Given the description of an element on the screen output the (x, y) to click on. 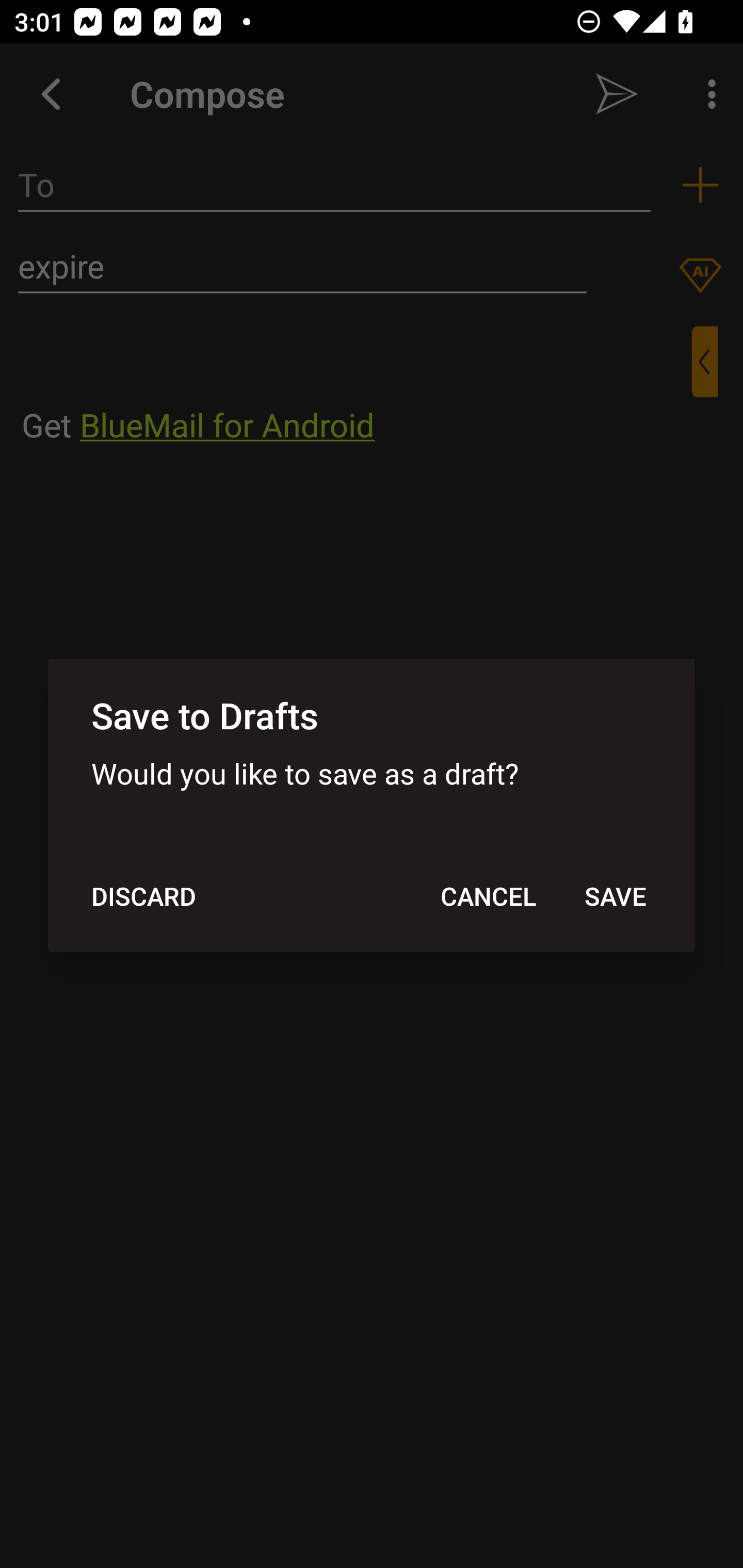
DISCARD (143, 895)
CANCEL (488, 895)
SAVE (615, 895)
